Given the description of an element on the screen output the (x, y) to click on. 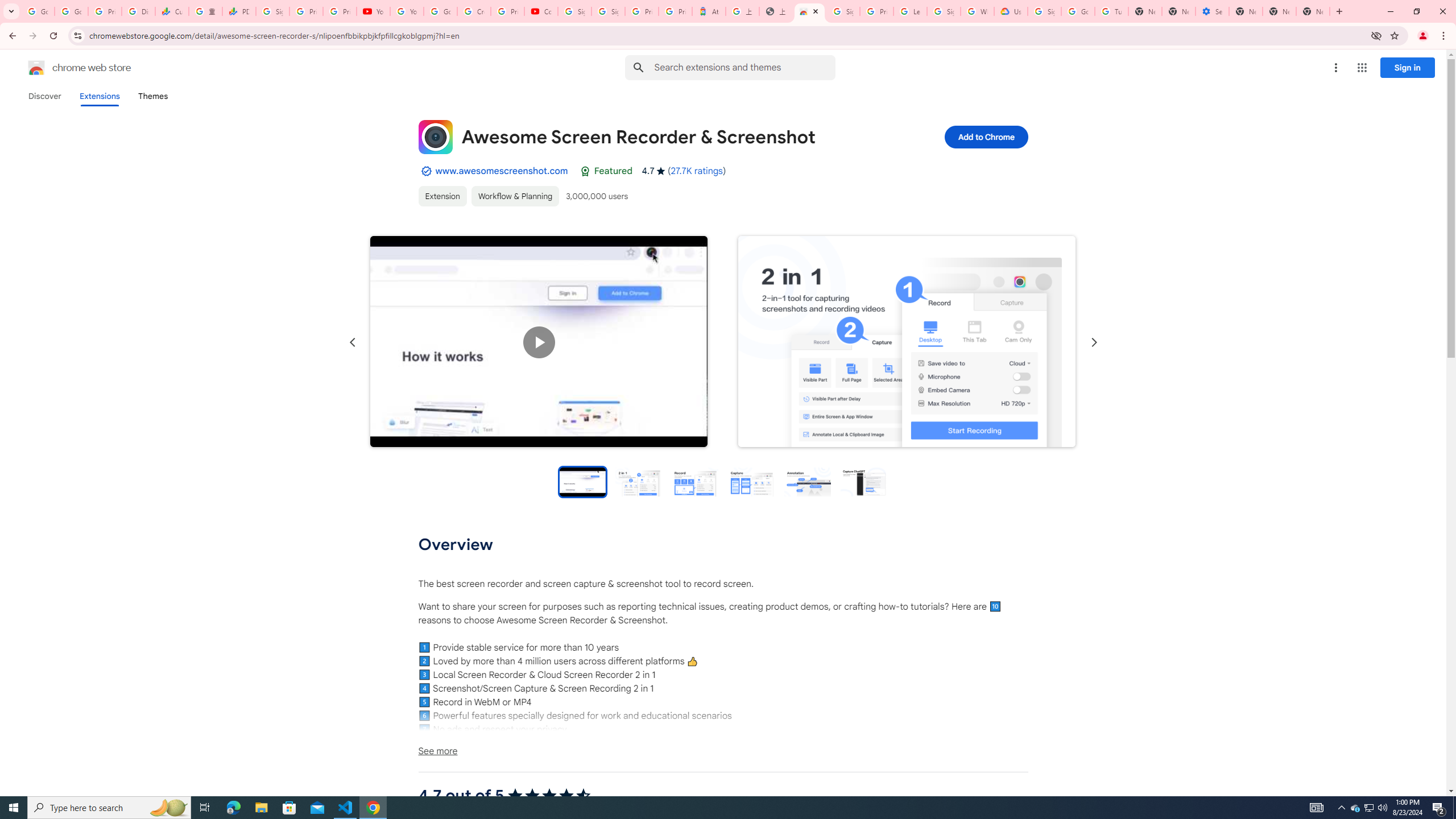
Sign in - Google Accounts (1043, 11)
Sign in - Google Accounts (943, 11)
Featured Badge (584, 170)
4.7 out of 5 stars (549, 795)
Chrome Web Store logo (36, 67)
Next slide (1093, 342)
Preview slide 1 (582, 481)
Item media 1 video (538, 342)
